Given the description of an element on the screen output the (x, y) to click on. 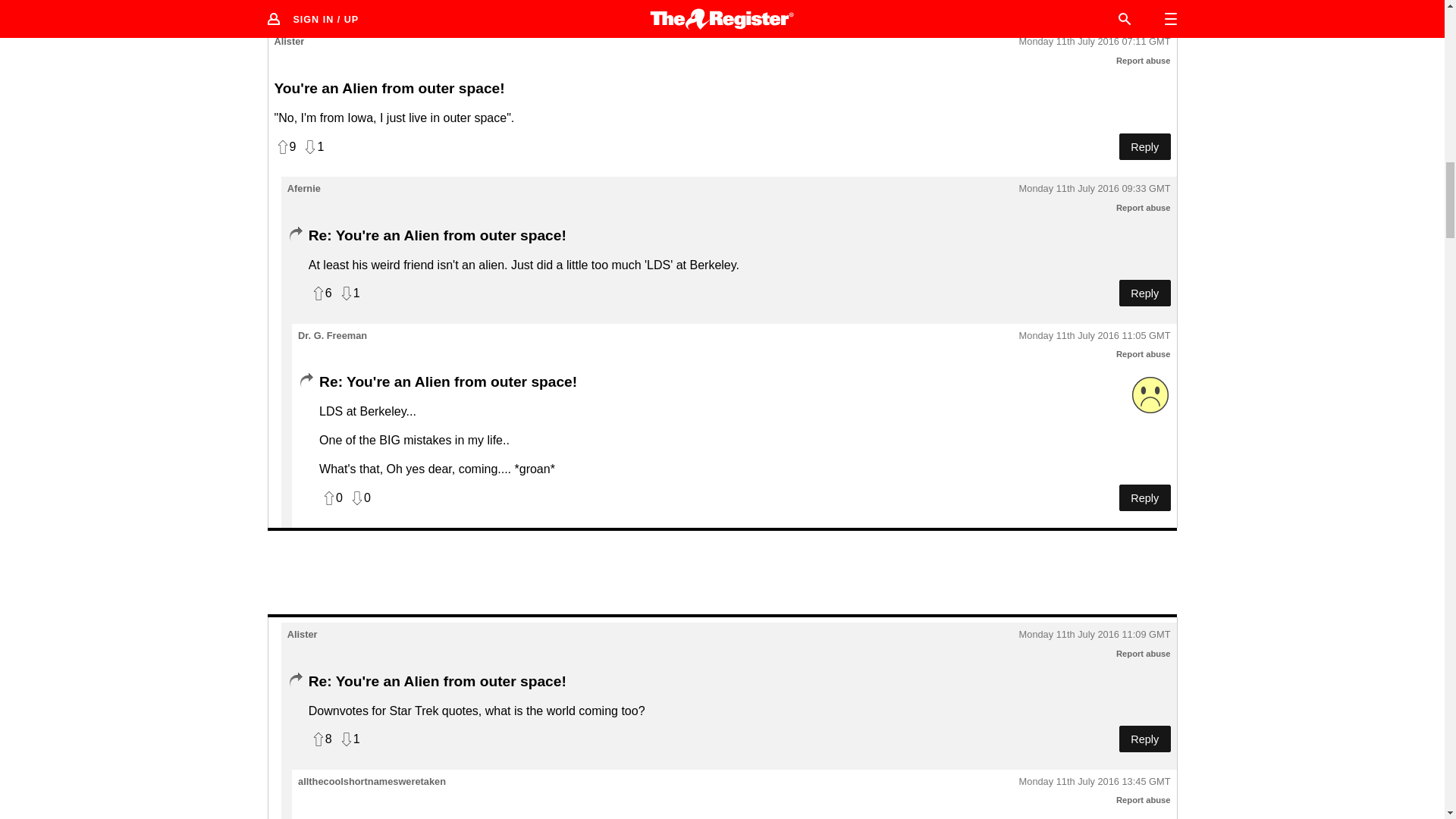
Report abuse (1143, 353)
Report abuse (1143, 653)
Report abuse (1143, 207)
Report abuse (1143, 60)
Report abuse (1143, 799)
